Given the description of an element on the screen output the (x, y) to click on. 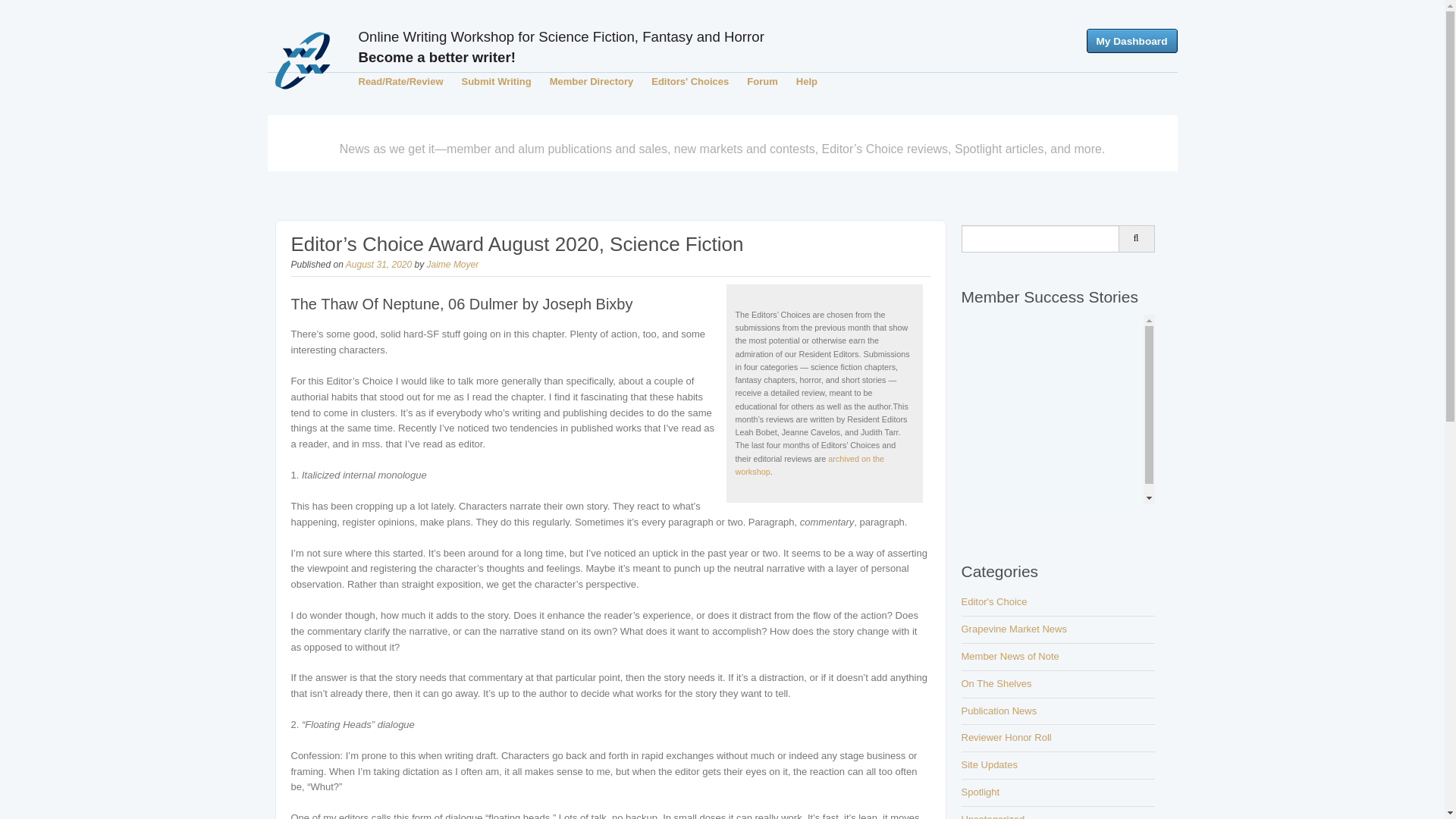
My Dashboard (1131, 40)
Member News of Note (1009, 655)
Staff selected writings (689, 81)
Your writing for review (496, 81)
Submit Writing (496, 81)
Forum (761, 81)
Publication News (998, 710)
Member Directory (591, 81)
Jaime Moyer (452, 264)
The Thaw Of Neptune, 06 Dulmer by Joseph Bixby (462, 303)
Online Writing Workshop help (806, 81)
Online Writing Workshop login and member dashboard (1131, 40)
Spotlight (980, 791)
Grapevine Market News (1013, 628)
On The Shelves (996, 683)
